Given the description of an element on the screen output the (x, y) to click on. 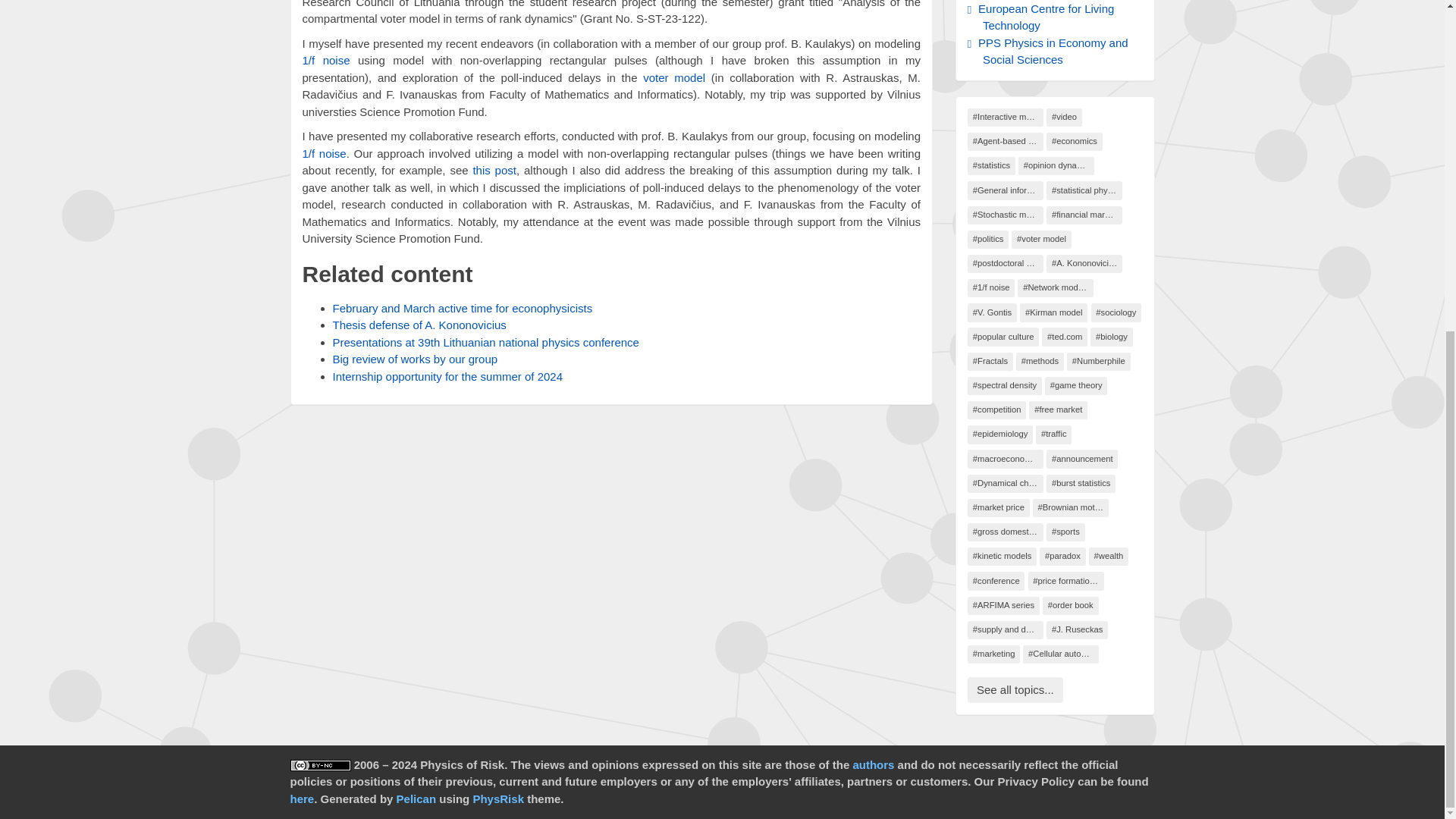
Internship opportunity for the summer of 2024 (446, 376)
PPS Physics in Economy and Social Sciences (1051, 51)
Thesis defense of A. Kononovicius (418, 324)
European Centre for Living Technology (1044, 17)
Presentations at 39th Lithuanian national physics conference (485, 341)
Big review of works by our group (414, 358)
voter model (673, 77)
this post (493, 169)
February and March active time for econophysicists (461, 308)
